Given the description of an element on the screen output the (x, y) to click on. 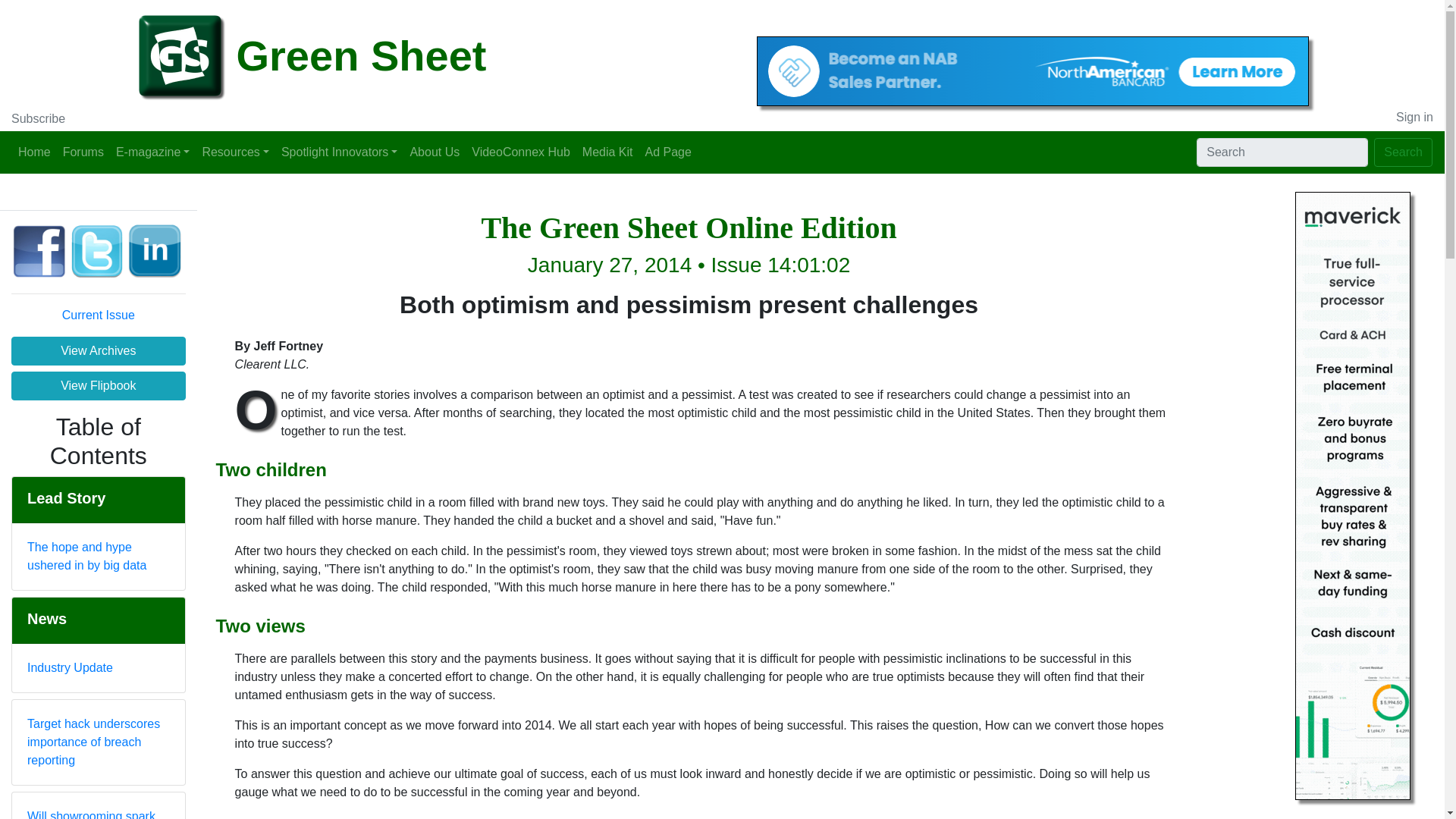
Search (1403, 152)
View Flipbook (98, 385)
Forums (83, 152)
Subscribe (38, 118)
Sign in (1414, 117)
Ad Page (668, 152)
Spotlight Innovators (339, 152)
Resources (235, 152)
VideoConnex Hub (520, 152)
Media Kit (607, 152)
About Us (434, 152)
E-magazine (152, 152)
Current Issue (98, 314)
View Archives (98, 350)
